Given the description of an element on the screen output the (x, y) to click on. 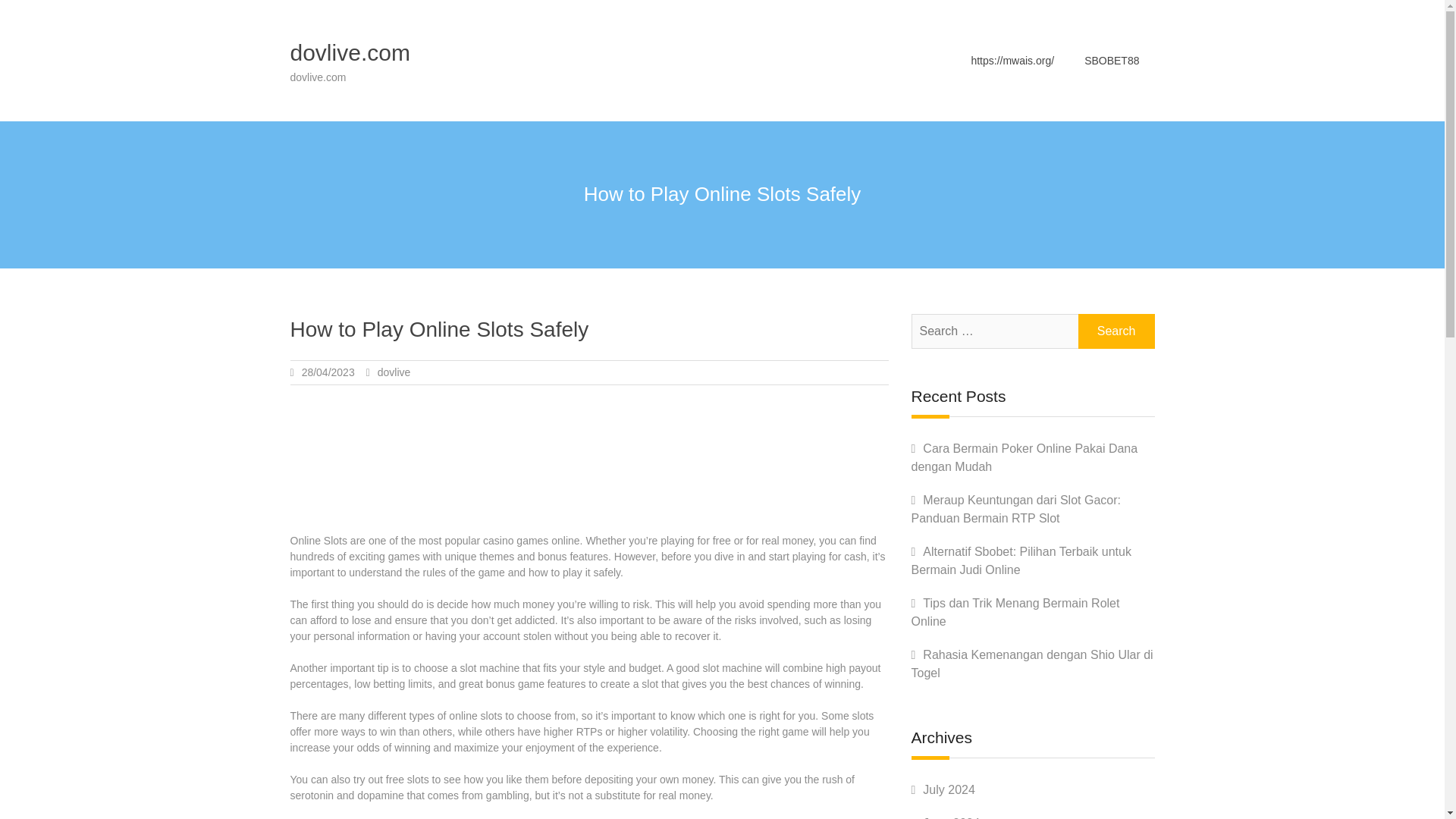
Tips dan Trik Menang Bermain Rolet Online (1015, 612)
Rahasia Kemenangan dengan Shio Ular di Togel (1032, 663)
dovlive (393, 372)
Search (1116, 330)
Search (1116, 330)
Cara Bermain Poker Online Pakai Dana dengan Mudah (1024, 457)
Search (1116, 330)
dovlive.com (349, 52)
Meraup Keuntungan dari Slot Gacor: Panduan Bermain RTP Slot (1016, 508)
SBOBET88 (1111, 59)
July 2024 (949, 789)
Alternatif Sbobet: Pilihan Terbaik untuk Bermain Judi Online (1021, 560)
June 2024 (951, 817)
